Given the description of an element on the screen output the (x, y) to click on. 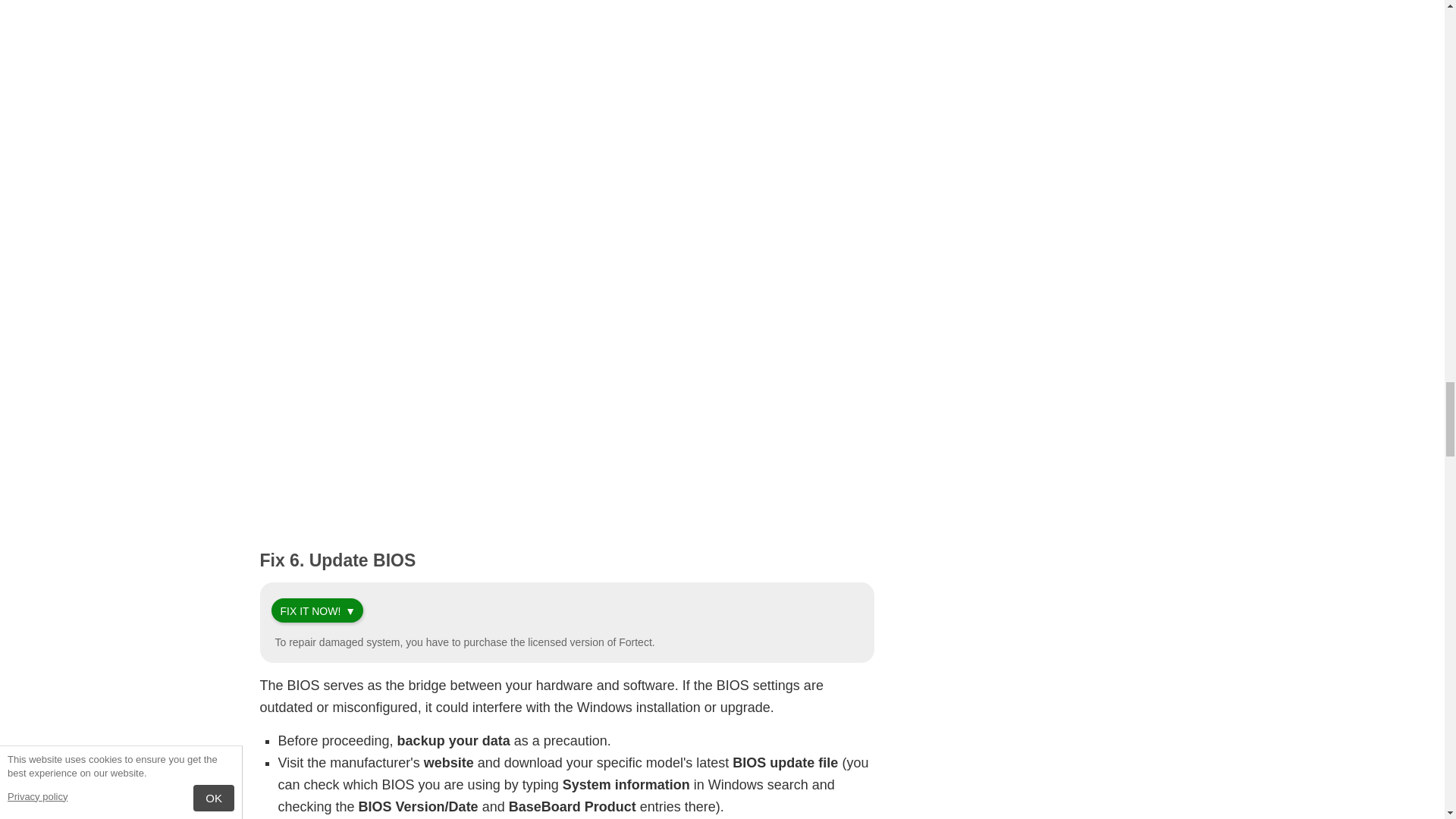
FIX IT NOW! (310, 611)
